Given the description of an element on the screen output the (x, y) to click on. 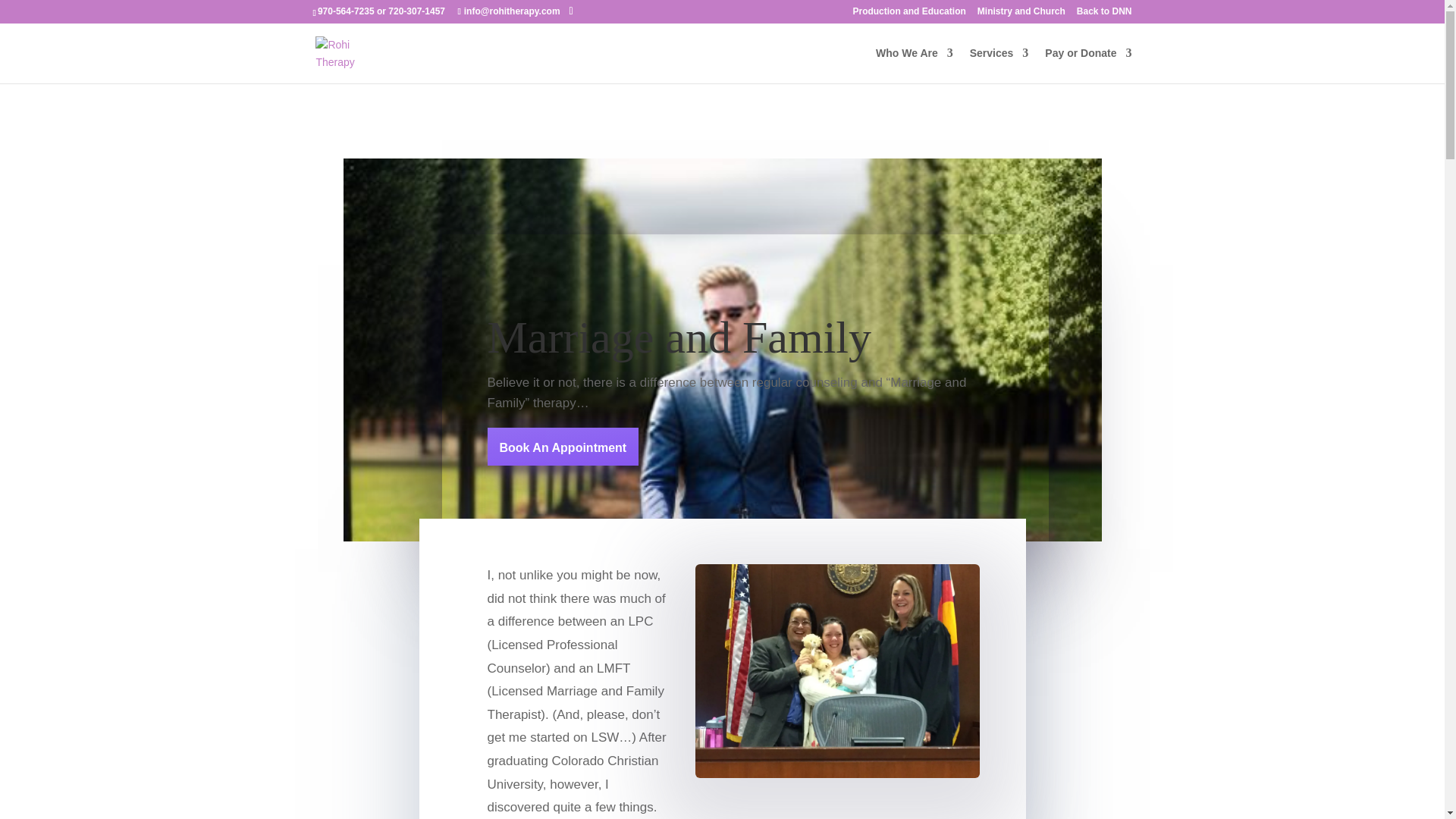
Services (999, 65)
Back to DNN (1104, 14)
Book An Appointment (562, 446)
Who We Are (914, 65)
Pay or Donate (1088, 65)
Production and Education (908, 14)
Ministry and Church (1020, 14)
